Given the description of an element on the screen output the (x, y) to click on. 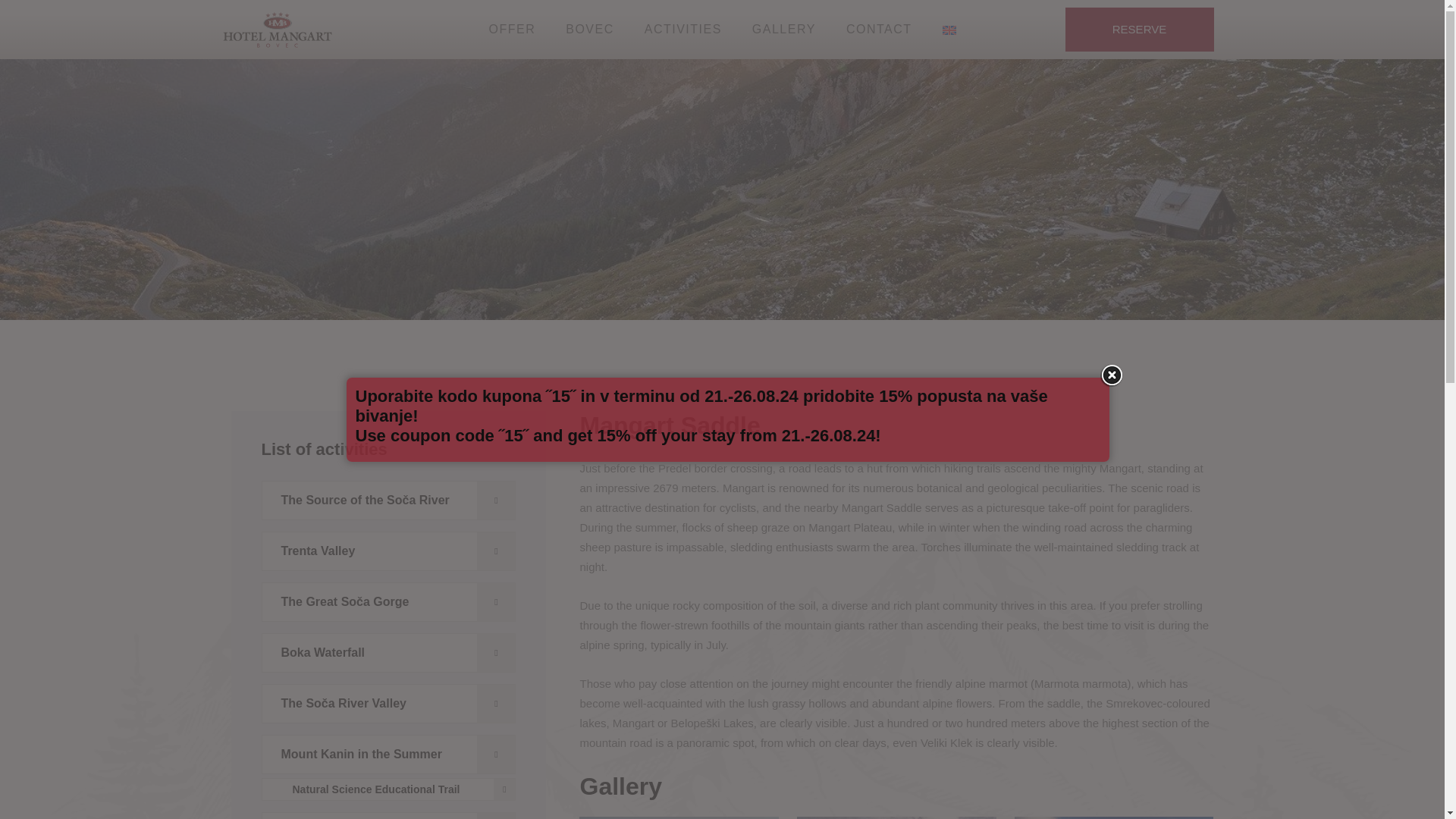
Krn Lake (388, 816)
Close (1111, 374)
CONTACT (878, 29)
OFFER (511, 29)
ACTIVITIES (683, 29)
RESERVE (1138, 29)
Mount Kanin in the Summer (388, 754)
Natural Science Educational Trail (388, 789)
BOVEC (590, 29)
Trenta Valley (388, 551)
